Given the description of an element on the screen output the (x, y) to click on. 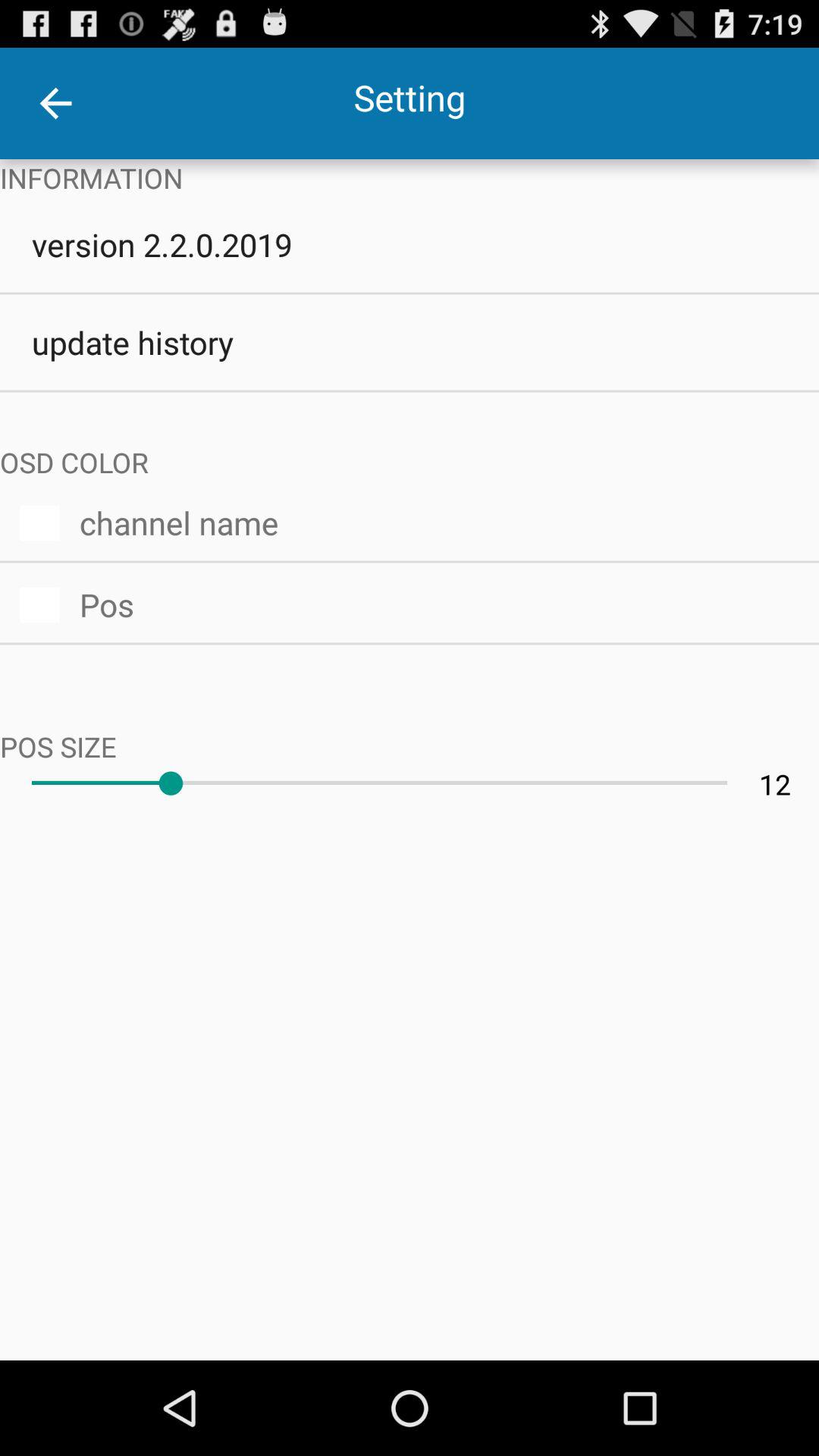
scroll to the channel name item (439, 520)
